Given the description of an element on the screen output the (x, y) to click on. 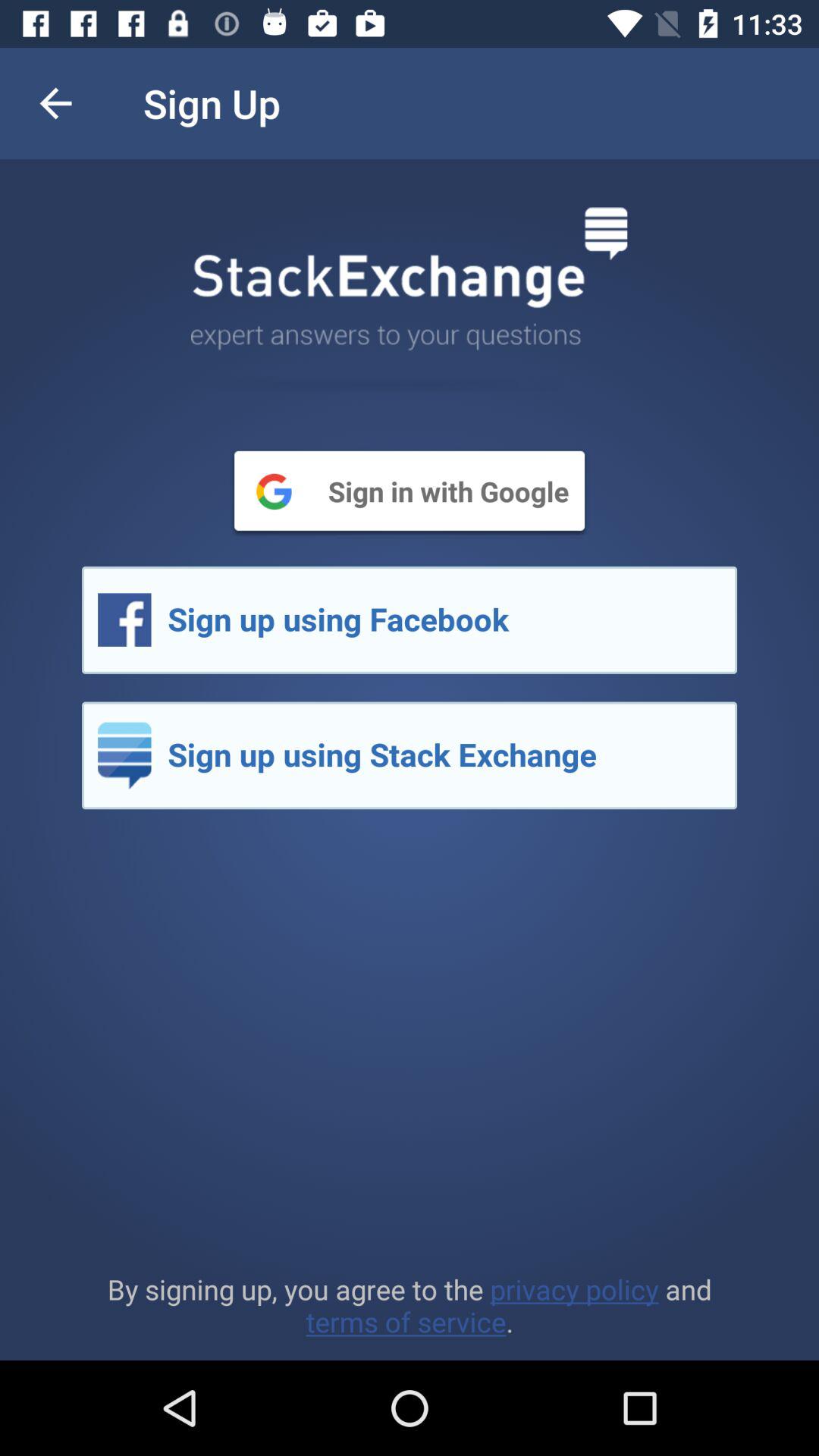
sign up using facebook button (409, 619)
